Given the description of an element on the screen output the (x, y) to click on. 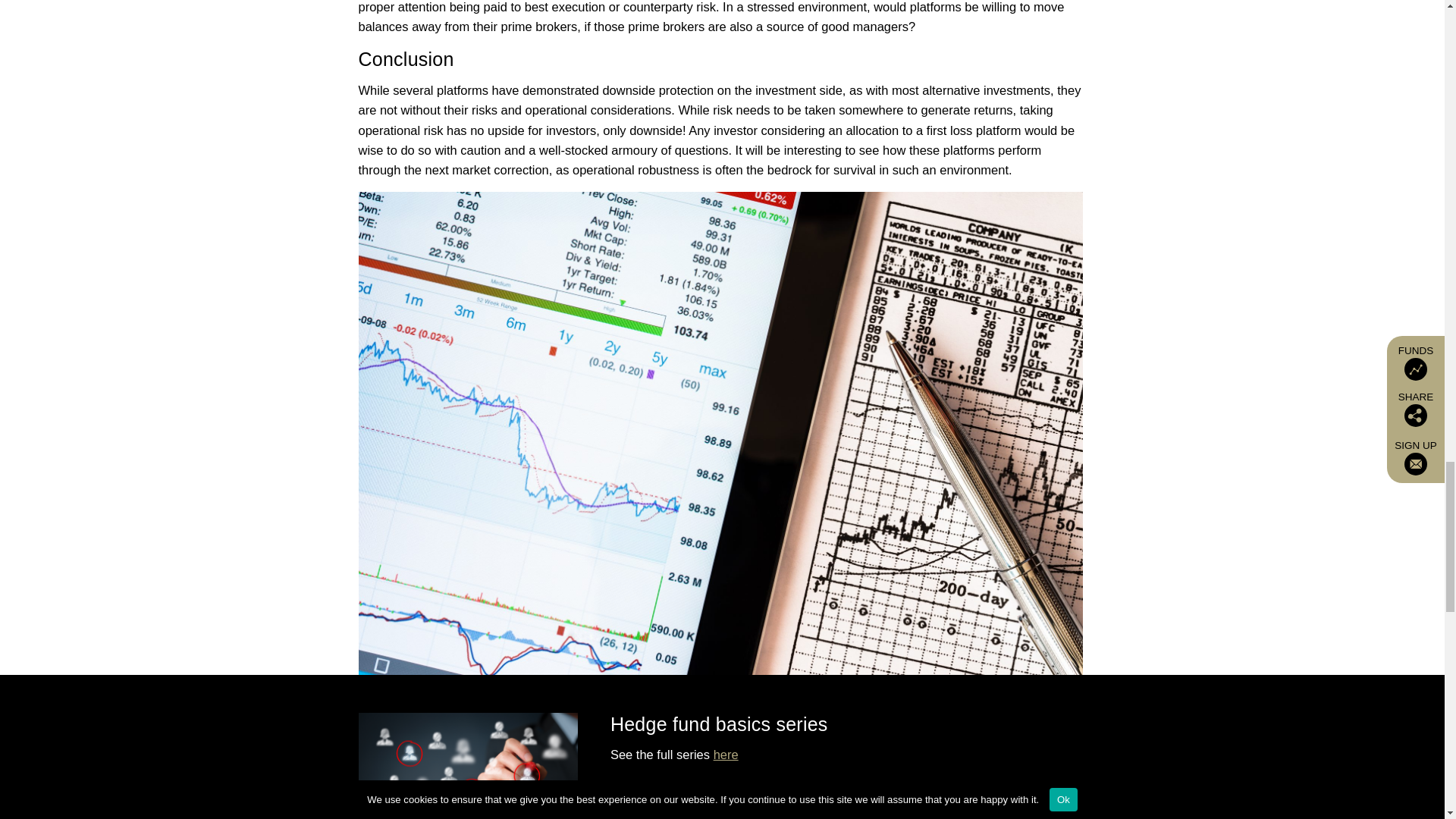
here (725, 754)
